Given the description of an element on the screen output the (x, y) to click on. 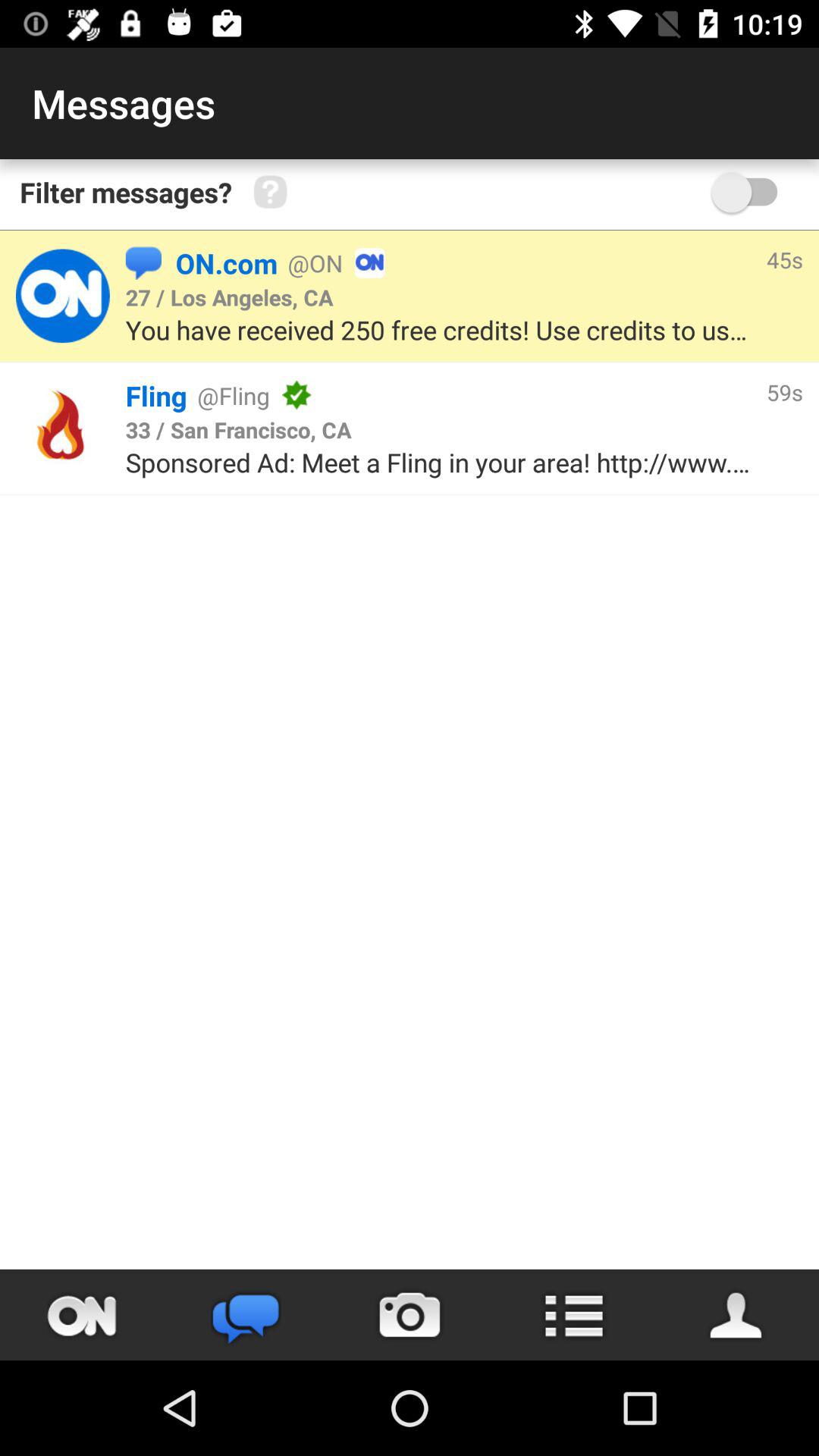
tap the 45s item (784, 259)
